Given the description of an element on the screen output the (x, y) to click on. 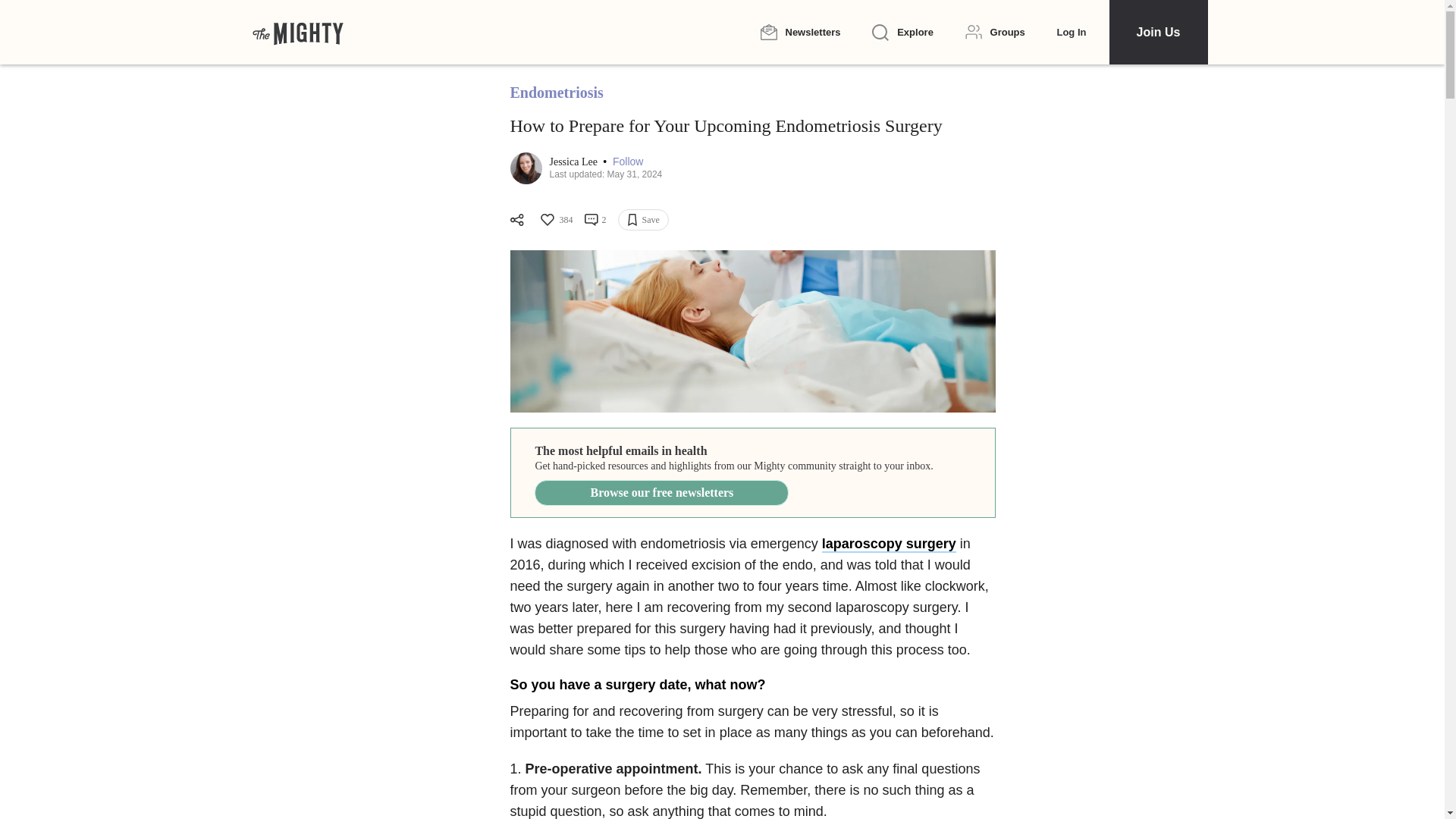
Follow (627, 161)
Newsletters (800, 31)
Explore (902, 32)
Groups (995, 32)
laparoscopy surgery (889, 544)
How to Prepare for Your Upcoming Endometriosis Surgery (751, 331)
Endometriosis (555, 92)
384 (555, 219)
Jessica Lee (573, 161)
Save (642, 219)
